Given the description of an element on the screen output the (x, y) to click on. 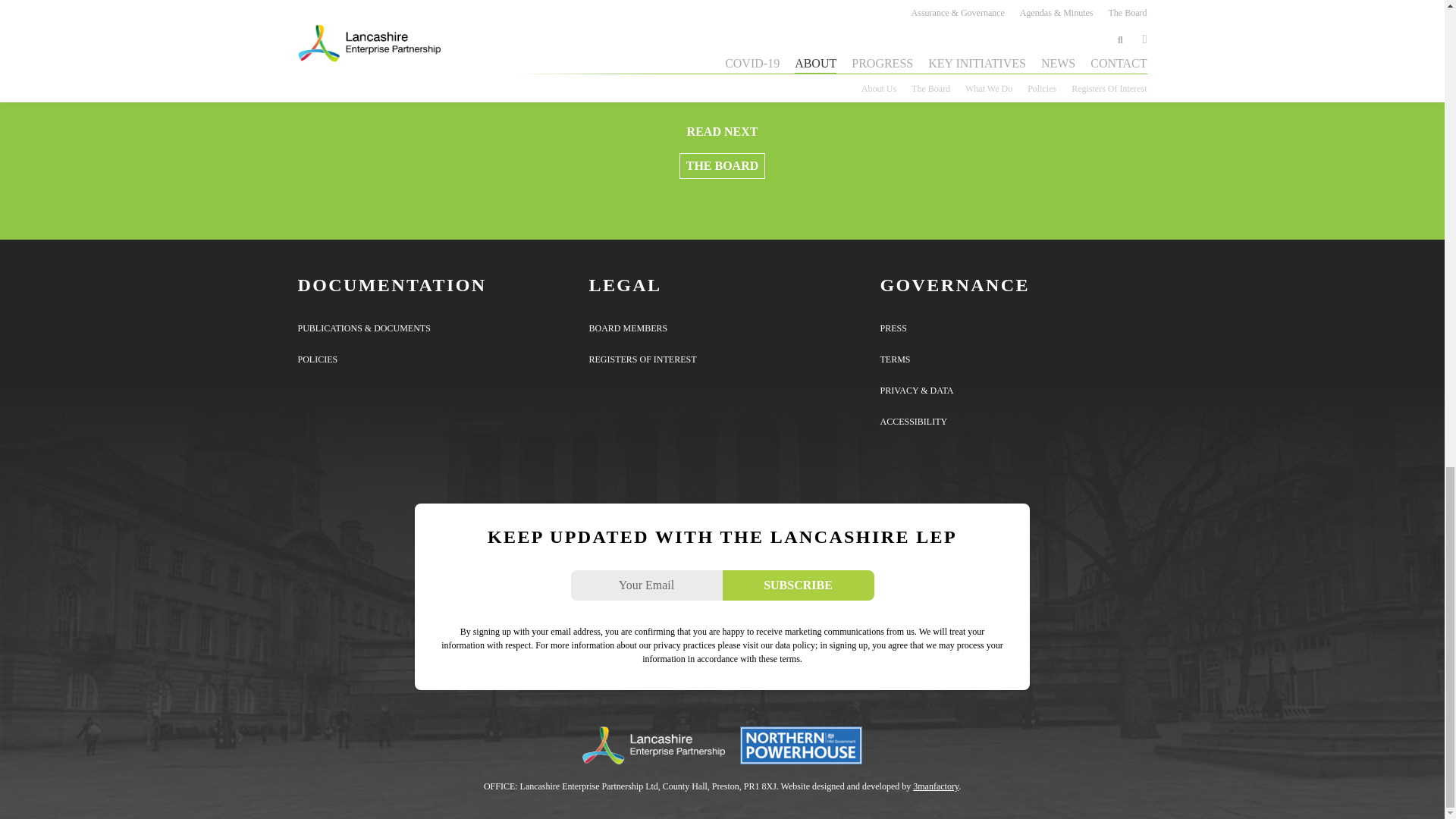
POLICIES (317, 358)
Subscribe (797, 585)
THE BOARD (722, 166)
The Board (722, 166)
BOARD MEMBERS (627, 327)
